Given the description of an element on the screen output the (x, y) to click on. 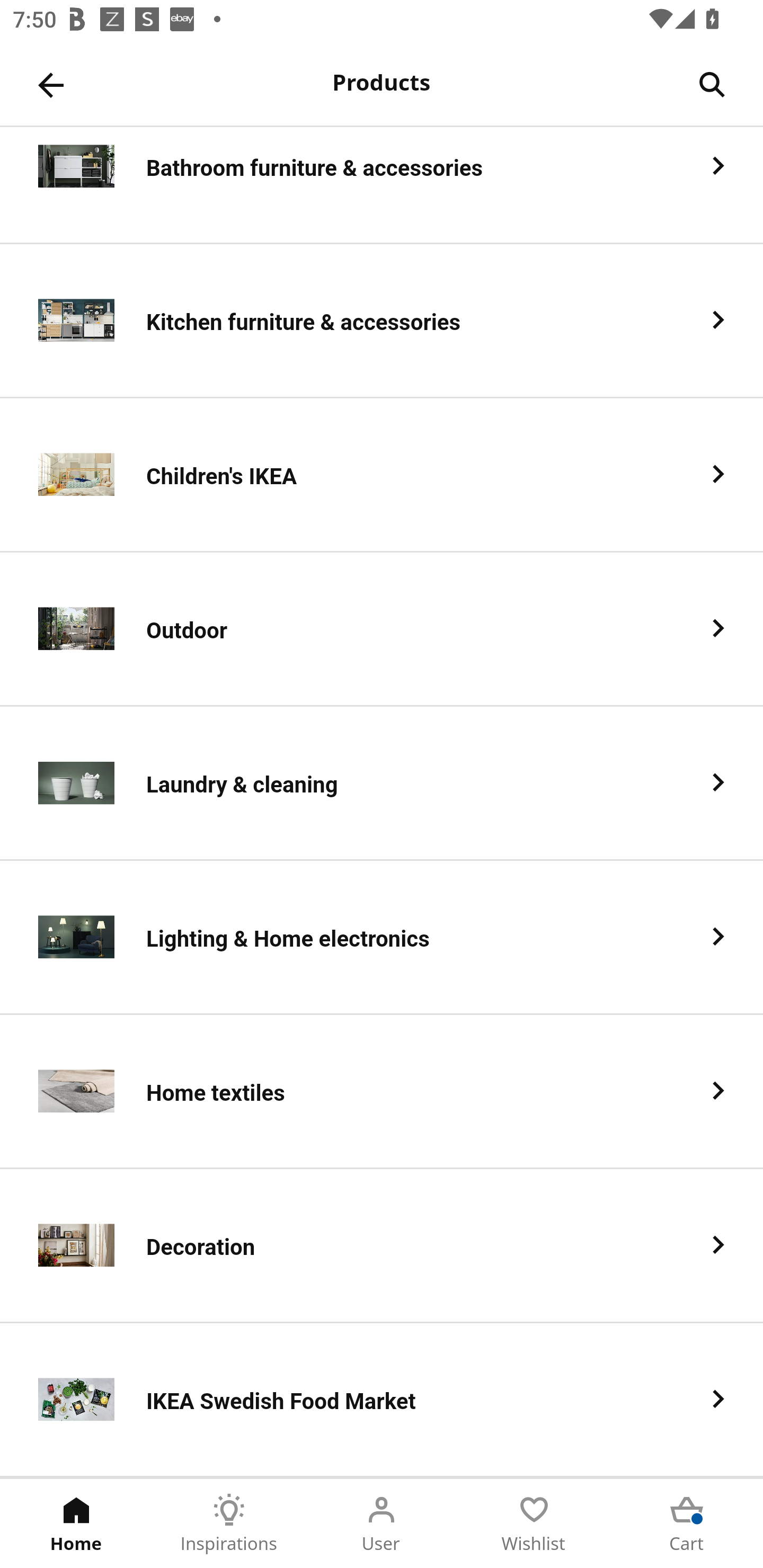
Bathroom furniture & accessories (381, 185)
Kitchen furniture & accessories (381, 321)
Children's IKEA (381, 474)
Outdoor (381, 629)
Laundry & cleaning (381, 783)
Lighting & Home electronics (381, 937)
Home textiles (381, 1091)
Decoration (381, 1246)
IKEA Swedish Food Market (381, 1400)
Home
Tab 1 of 5 (76, 1522)
Inspirations
Tab 2 of 5 (228, 1522)
User
Tab 3 of 5 (381, 1522)
Wishlist
Tab 4 of 5 (533, 1522)
Cart
Tab 5 of 5 (686, 1522)
